Given the description of an element on the screen output the (x, y) to click on. 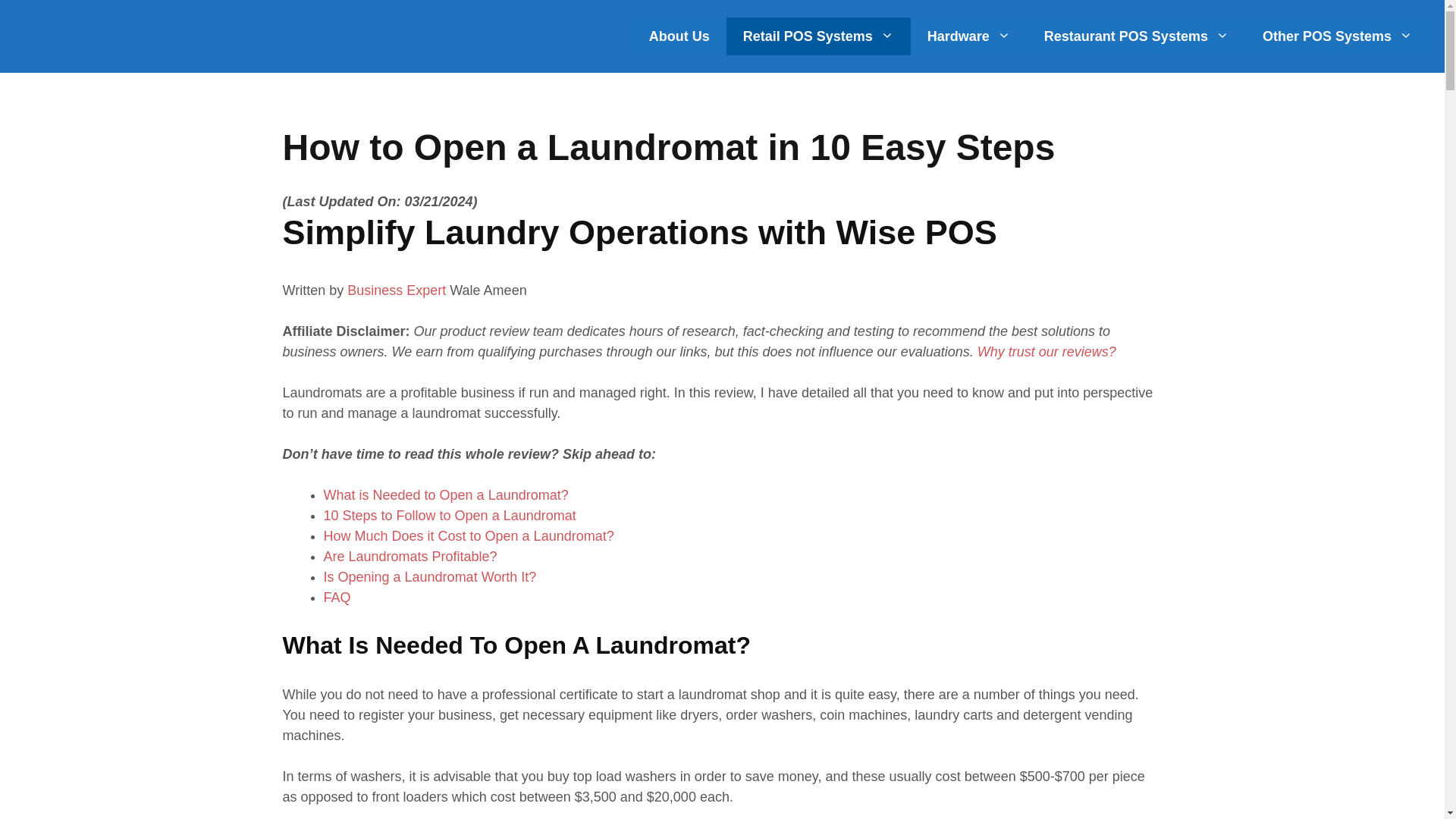
Hardware (969, 36)
Retail POS Systems (818, 36)
Restaurant POS Systems (1136, 36)
About Us (678, 36)
Other POS Systems (1337, 36)
